Given the description of an element on the screen output the (x, y) to click on. 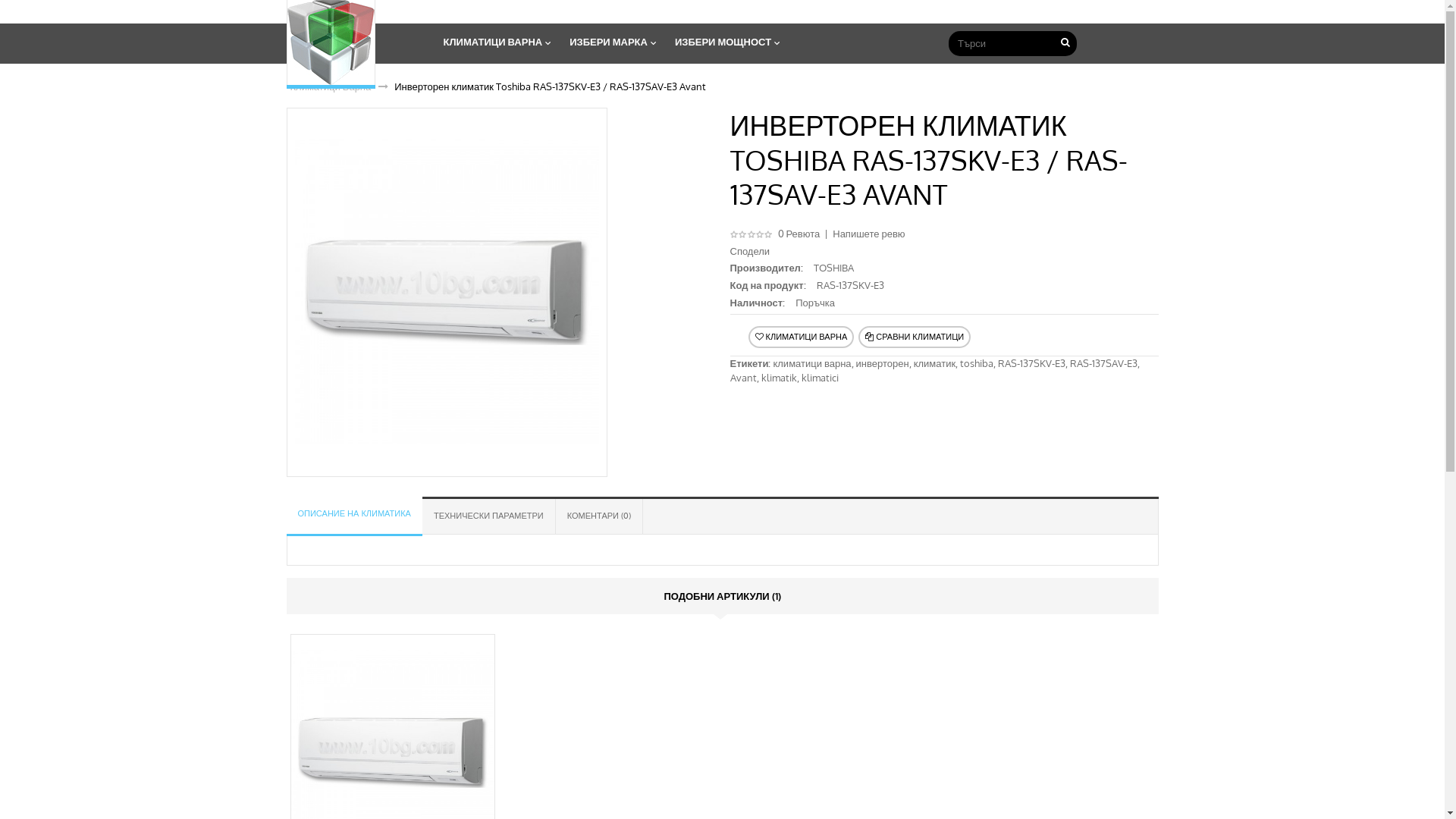
toshiba Element type: text (976, 363)
Avant Element type: text (742, 377)
RAS-137SAV-E3 Element type: text (1103, 363)
klimatik Element type: text (779, 377)
TOSHIBA Element type: text (833, 267)
klimatici Element type: text (818, 377)
RAS-137SKV-E3 Element type: text (1031, 363)
